Given the description of an element on the screen output the (x, y) to click on. 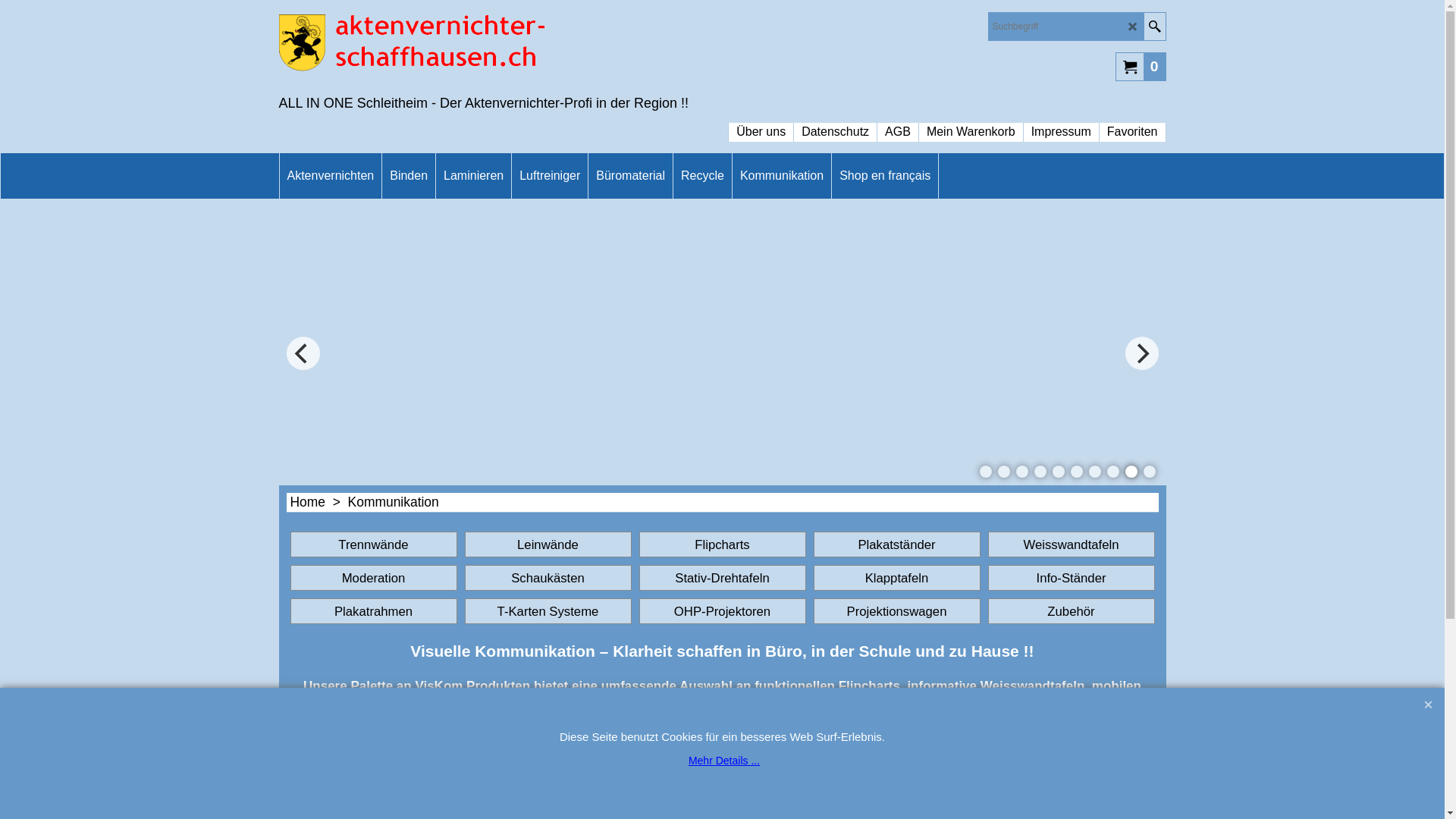
Mehr Details ... Element type: text (723, 760)
Favoriten Element type: text (1132, 124)
Binden Element type: text (408, 175)
Weisswandtafeln Element type: text (1070, 544)
Plakatrahmen Element type: text (372, 611)
Laminieren Element type: text (473, 175)
Kommunikation Element type: text (781, 175)
Klapptafeln Element type: text (895, 577)
Projektionswagen Element type: text (895, 611)
Suche Element type: hover (1154, 26)
T-Karten Systeme Element type: text (547, 611)
Mein Warenkorb Element type: text (970, 124)
Impressum Element type: text (1060, 124)
Datenschutz Element type: text (834, 124)
LD_CANCEL Element type: hover (1132, 26)
Home  >  Element type: text (318, 501)
AGB Element type: text (897, 124)
0 Element type: text (1140, 65)
Flipcharts Element type: text (721, 544)
Aktenvernichten Element type: text (330, 175)
Recycle Element type: text (702, 175)
Stativ-Drehtafeln Element type: text (721, 577)
Moderation Element type: text (372, 577)
Luftreiniger Element type: text (549, 175)
OHP-Projektoren Element type: text (721, 611)
